Given the description of an element on the screen output the (x, y) to click on. 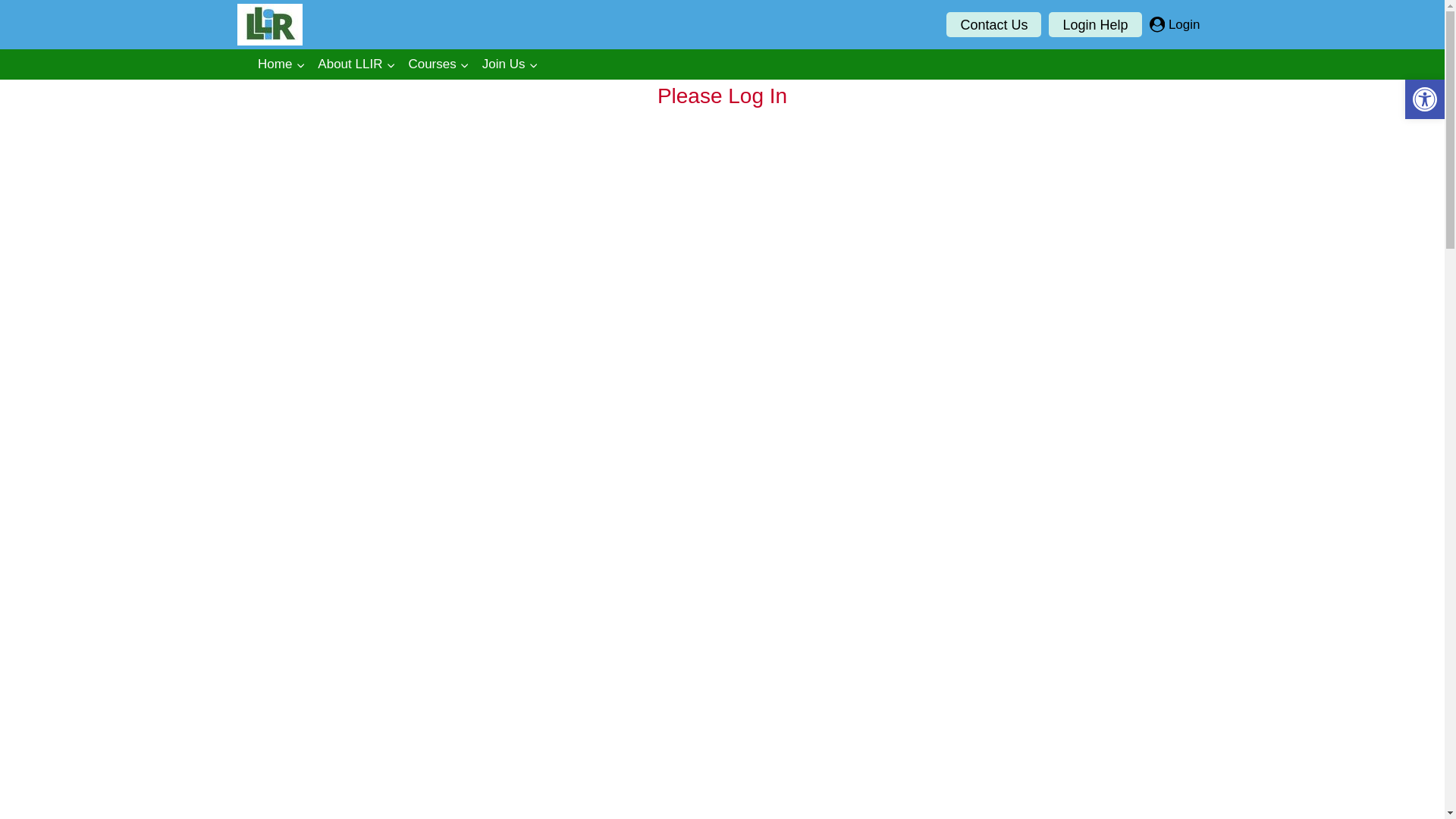
Accessibility Tools (1424, 98)
Join Us (510, 64)
Login (1174, 24)
Contact Us (993, 24)
Home (281, 64)
Courses (438, 64)
Login Help (1094, 24)
About LLIR (356, 64)
